Given the description of an element on the screen output the (x, y) to click on. 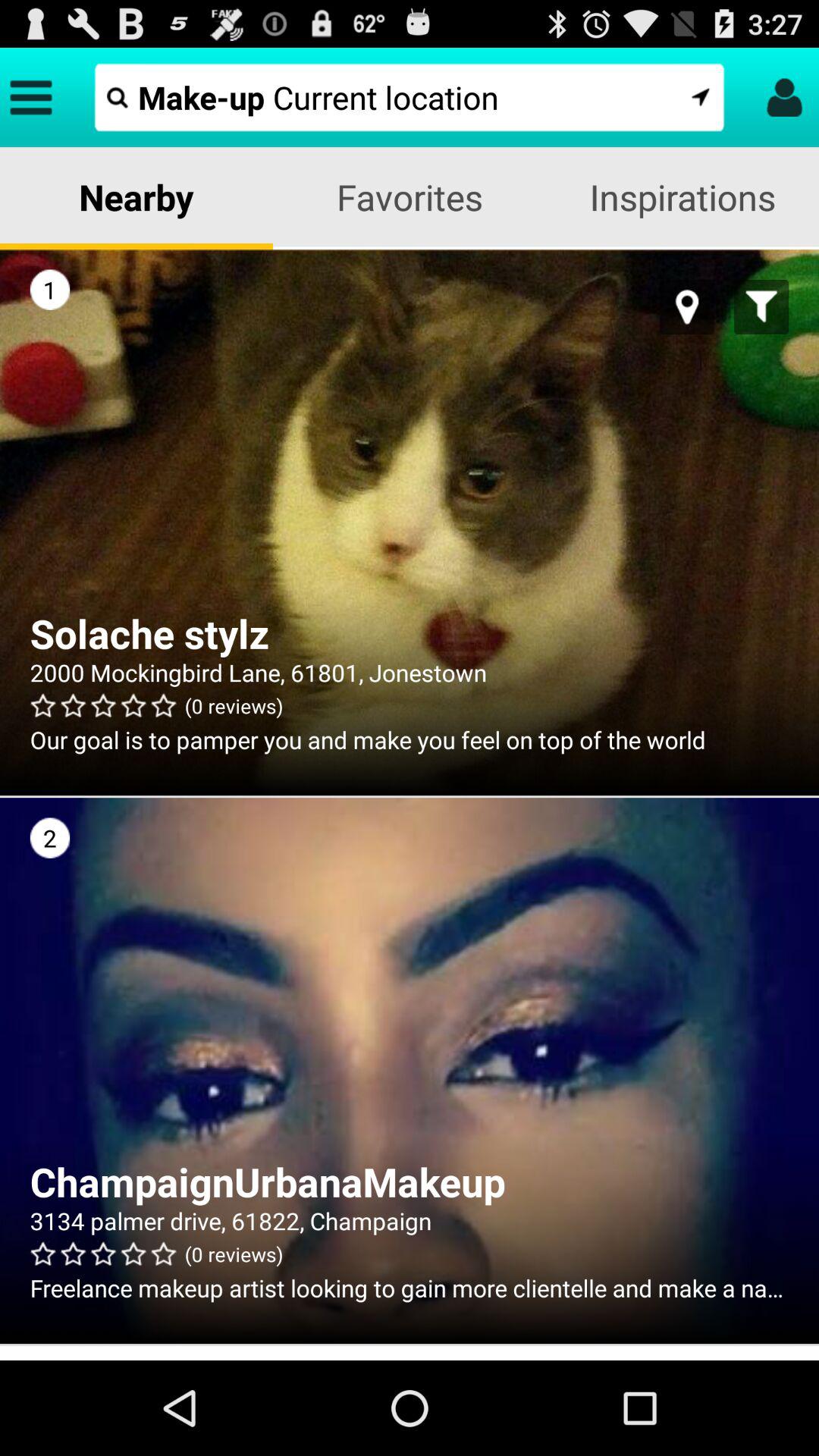
click our goal is (409, 739)
